Given the description of an element on the screen output the (x, y) to click on. 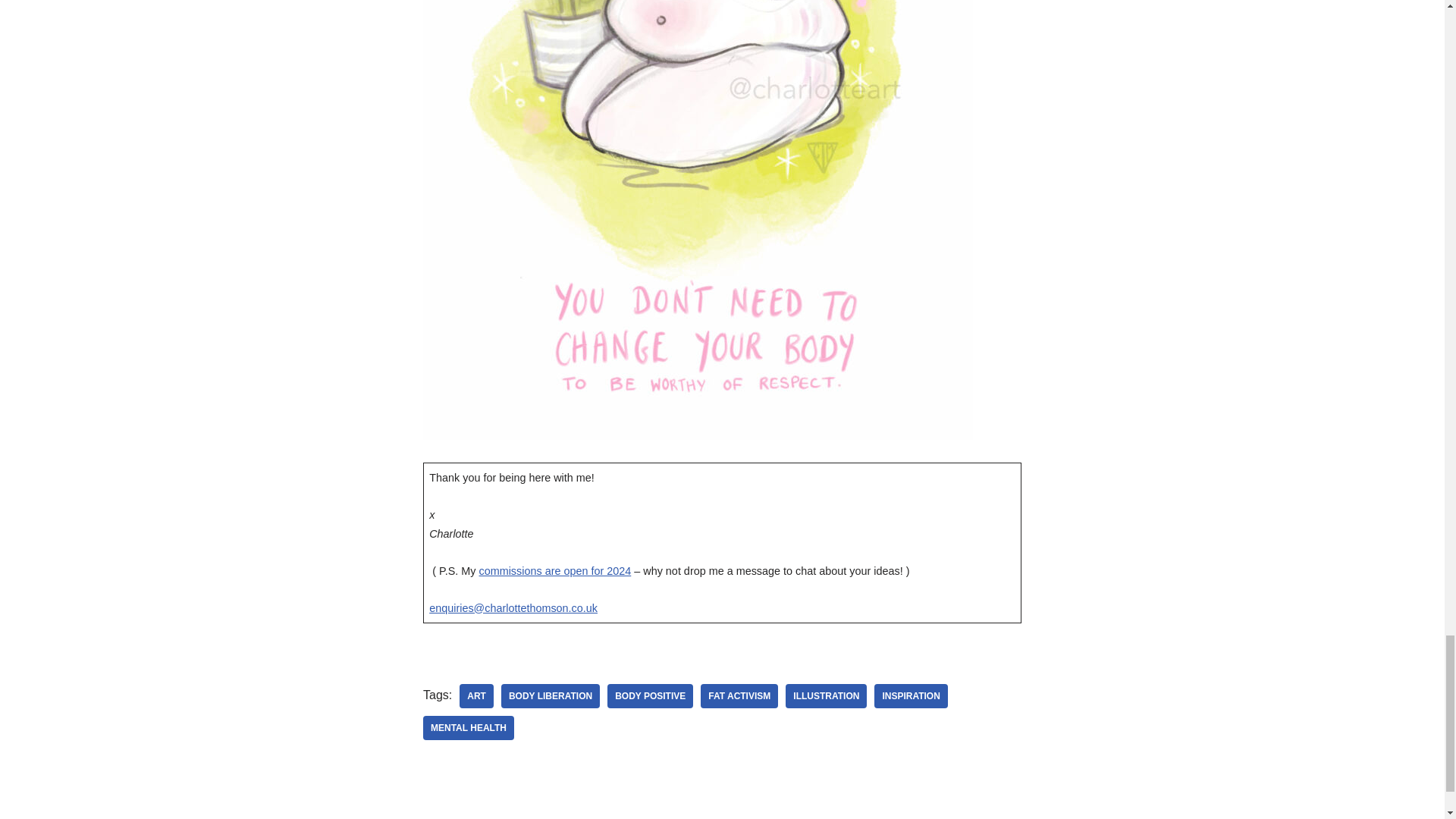
inspiration (911, 695)
BODY POSITIVE (650, 695)
fat activism (738, 695)
FAT ACTIVISM (738, 695)
mental health (468, 727)
ART (476, 695)
illustration (826, 695)
Body liberation (549, 695)
BODY LIBERATION (549, 695)
commissions are open for 2024 (555, 571)
